Given the description of an element on the screen output the (x, y) to click on. 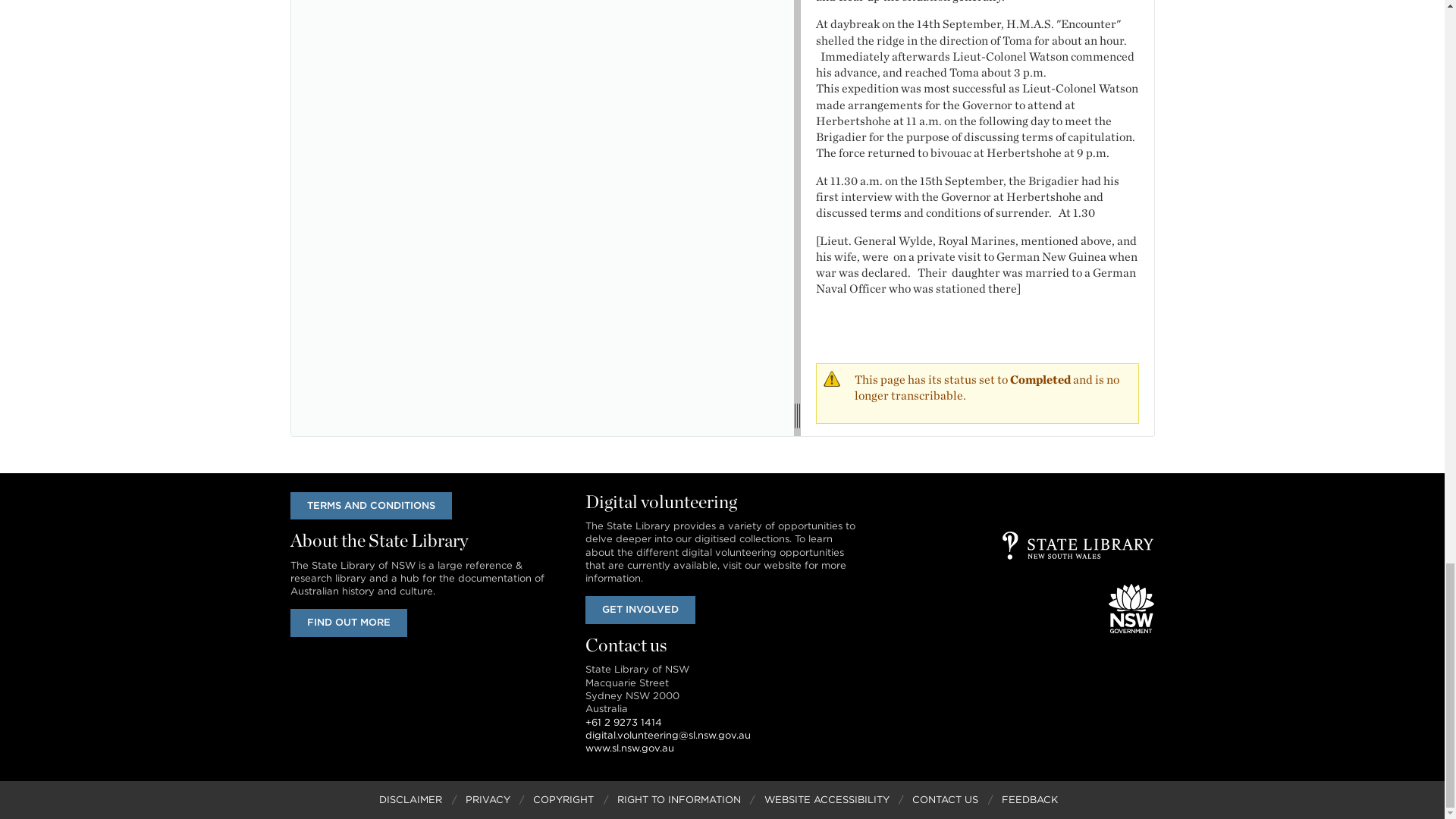
NSW Government (1131, 608)
State Library of NSW (1078, 545)
